Given the description of an element on the screen output the (x, y) to click on. 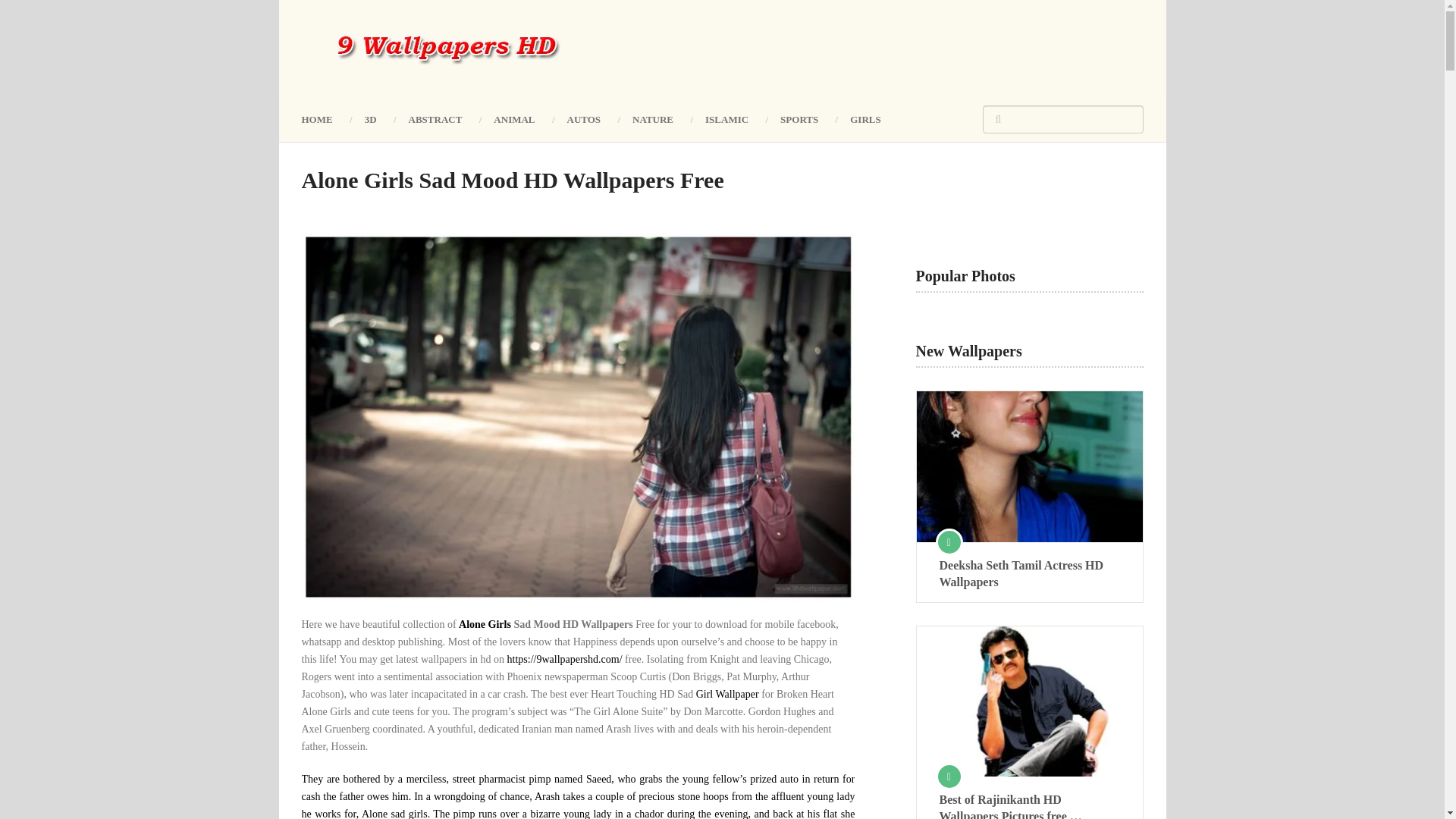
AUTOS (584, 118)
3D (371, 118)
GIRLS (865, 118)
ISLAMIC (726, 118)
Girl Wallpaper (726, 694)
Alone Girls (485, 624)
HOME (325, 118)
Deeksha Seth Tamil Actress HD Wallpapers (1029, 573)
NATURE (651, 118)
ABSTRACT (436, 118)
